Given the description of an element on the screen output the (x, y) to click on. 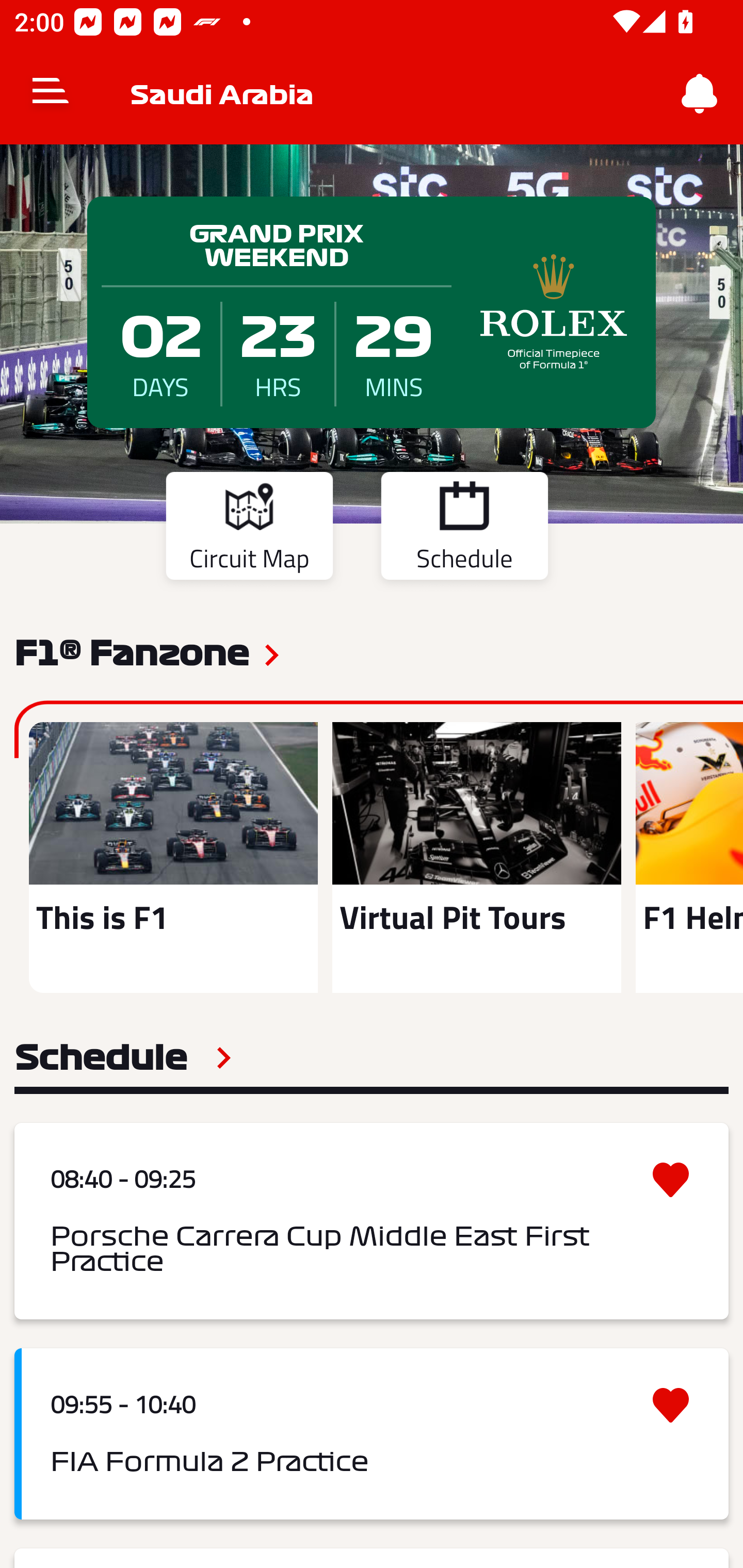
Navigate up (50, 93)
Notifications (699, 93)
Circuit Map (249, 528)
Schedule (464, 528)
F1® Fanzone (131, 651)
This is F1 (173, 857)
Virtual Pit Tours (476, 857)
Schedule (122, 1057)
09:55 - 10:40 FIA Formula 2 Practice (371, 1433)
